Given the description of an element on the screen output the (x, y) to click on. 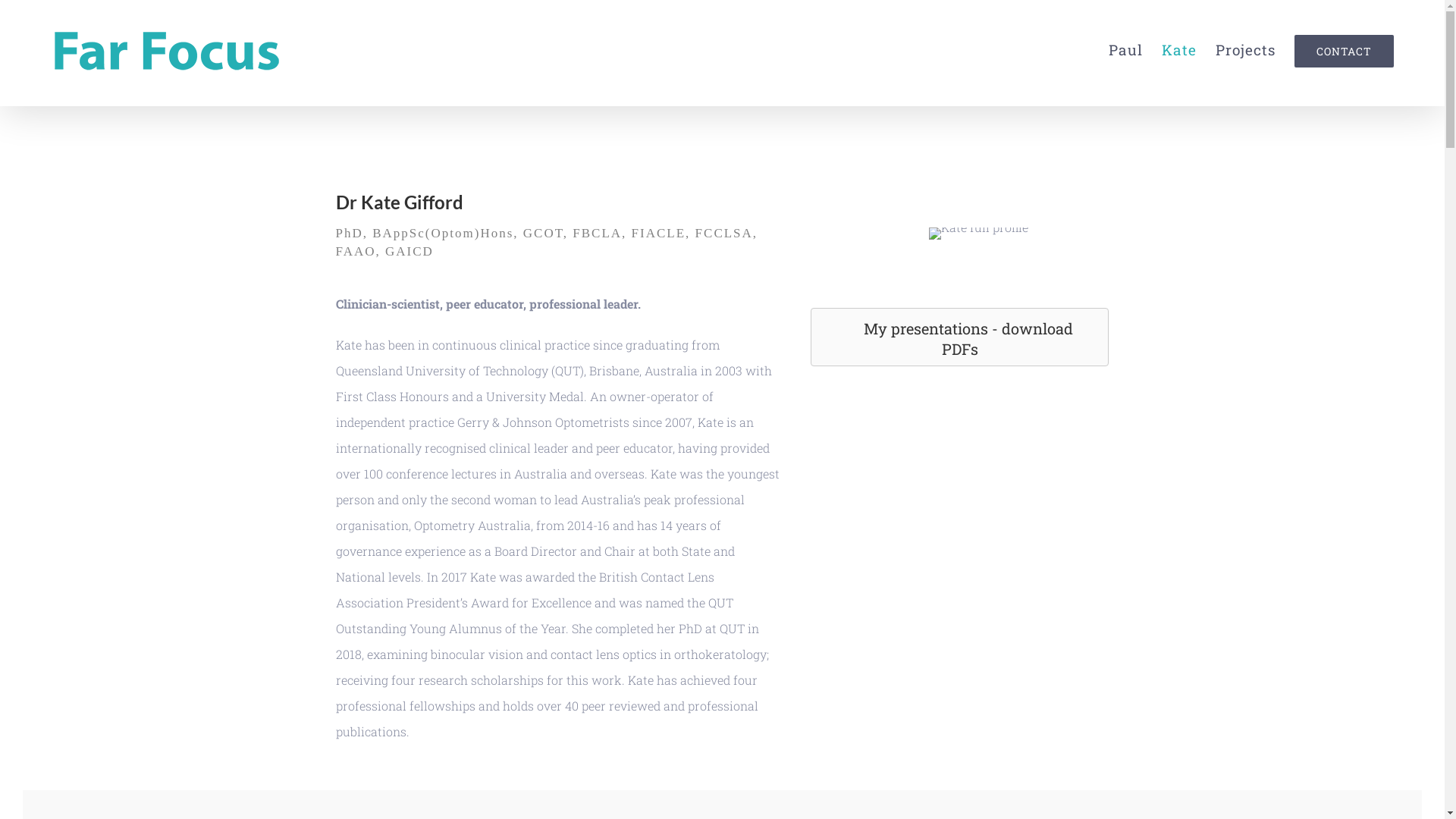
Kate Element type: text (1178, 49)
Kate full profile Element type: hover (978, 233)
My presentations - download PDFs Element type: text (959, 336)
CONTACT Element type: text (1343, 49)
Projects Element type: text (1245, 49)
Paul Element type: text (1125, 49)
